Given the description of an element on the screen output the (x, y) to click on. 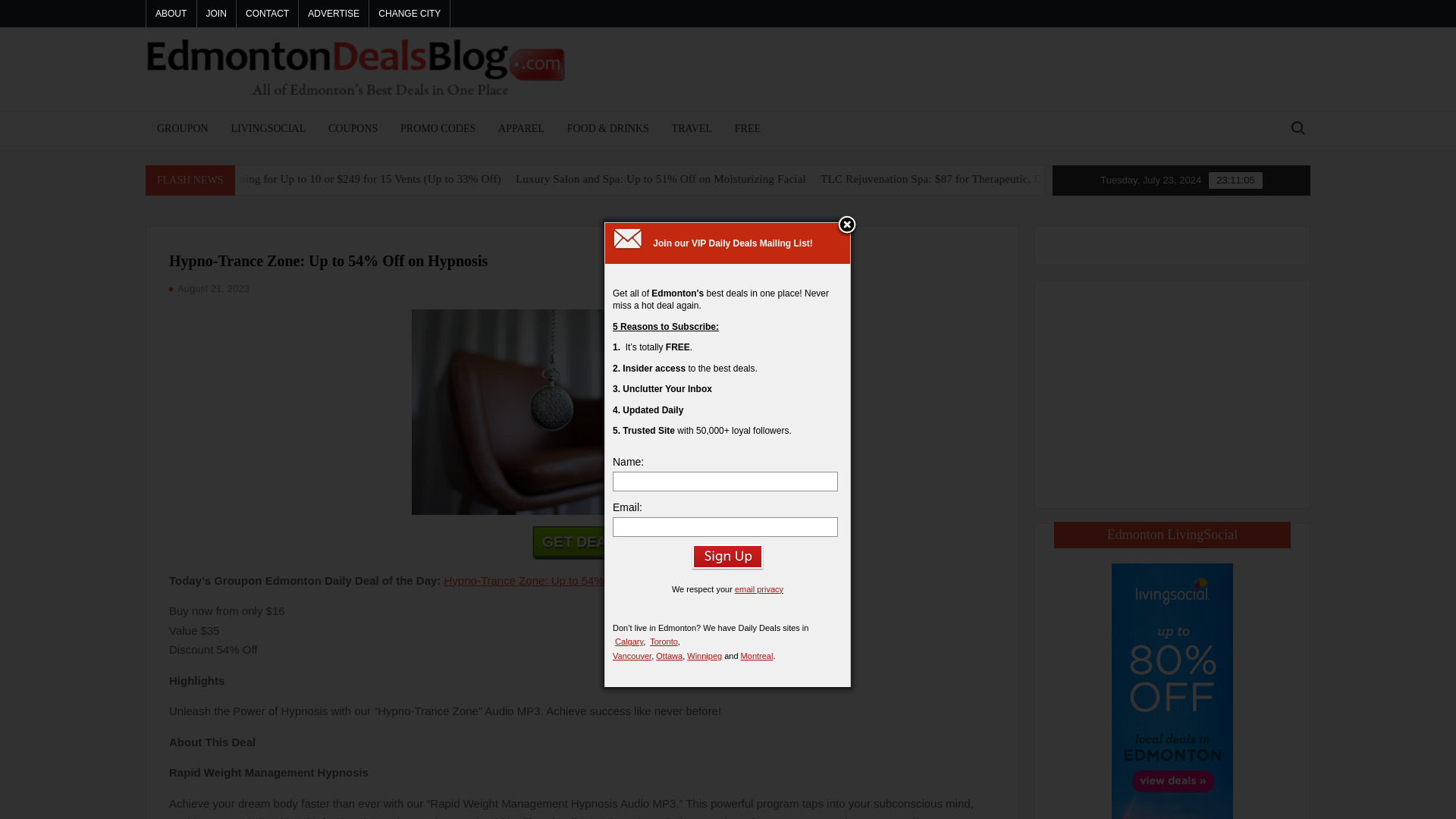
PROMO CODES (437, 128)
APPAREL (521, 128)
LIVINGSOCIAL (268, 128)
COUPONS (352, 128)
JOIN (215, 13)
FREE (747, 128)
GROUPON (182, 128)
ABOUT (171, 13)
ADVERTISE (333, 13)
CONTACT (266, 13)
CHANGE CITY (409, 13)
EDMONTON DEALS BLOG (668, 125)
TRAVEL (692, 128)
